Given the description of an element on the screen output the (x, y) to click on. 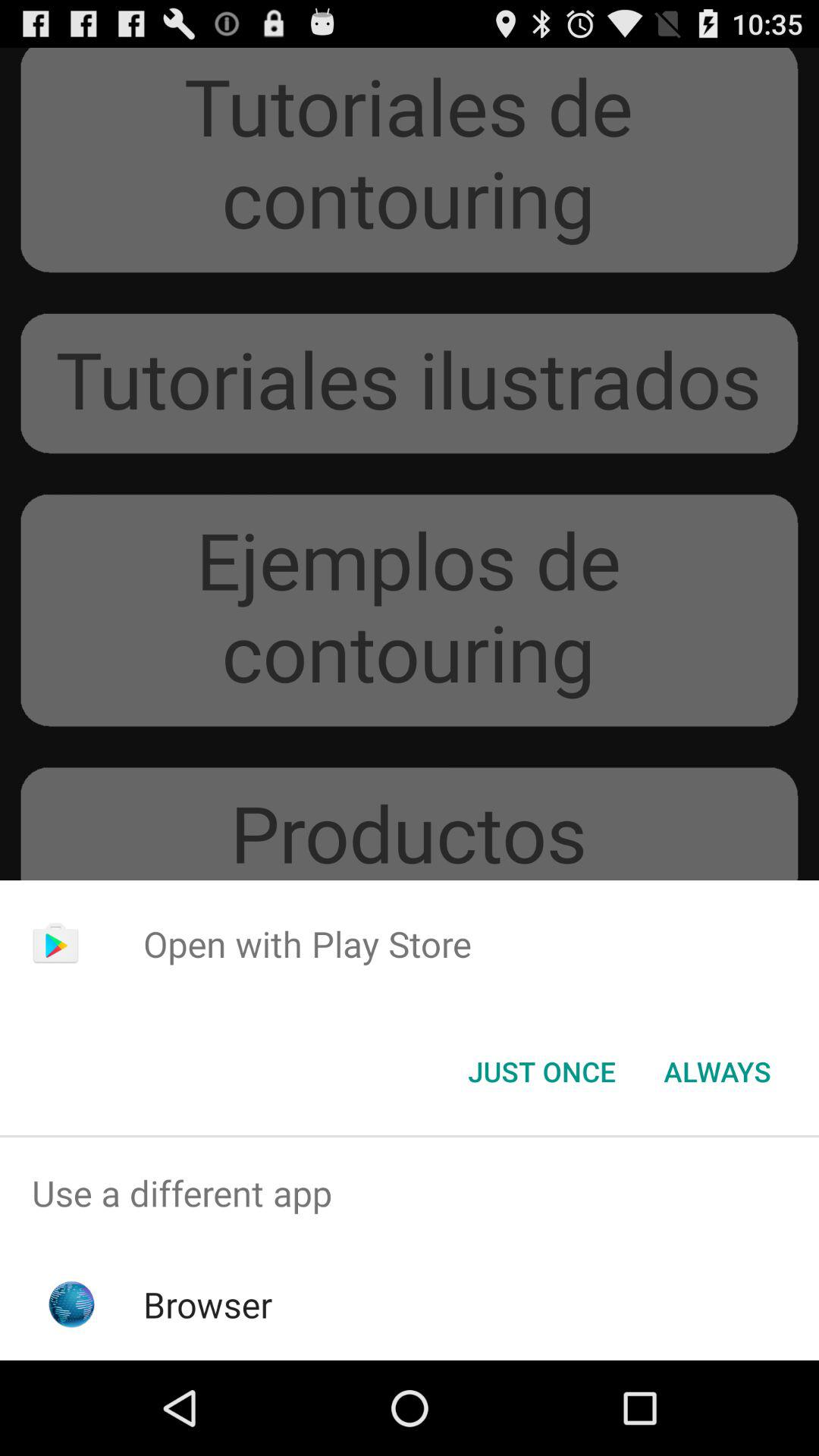
click always item (717, 1071)
